Given the description of an element on the screen output the (x, y) to click on. 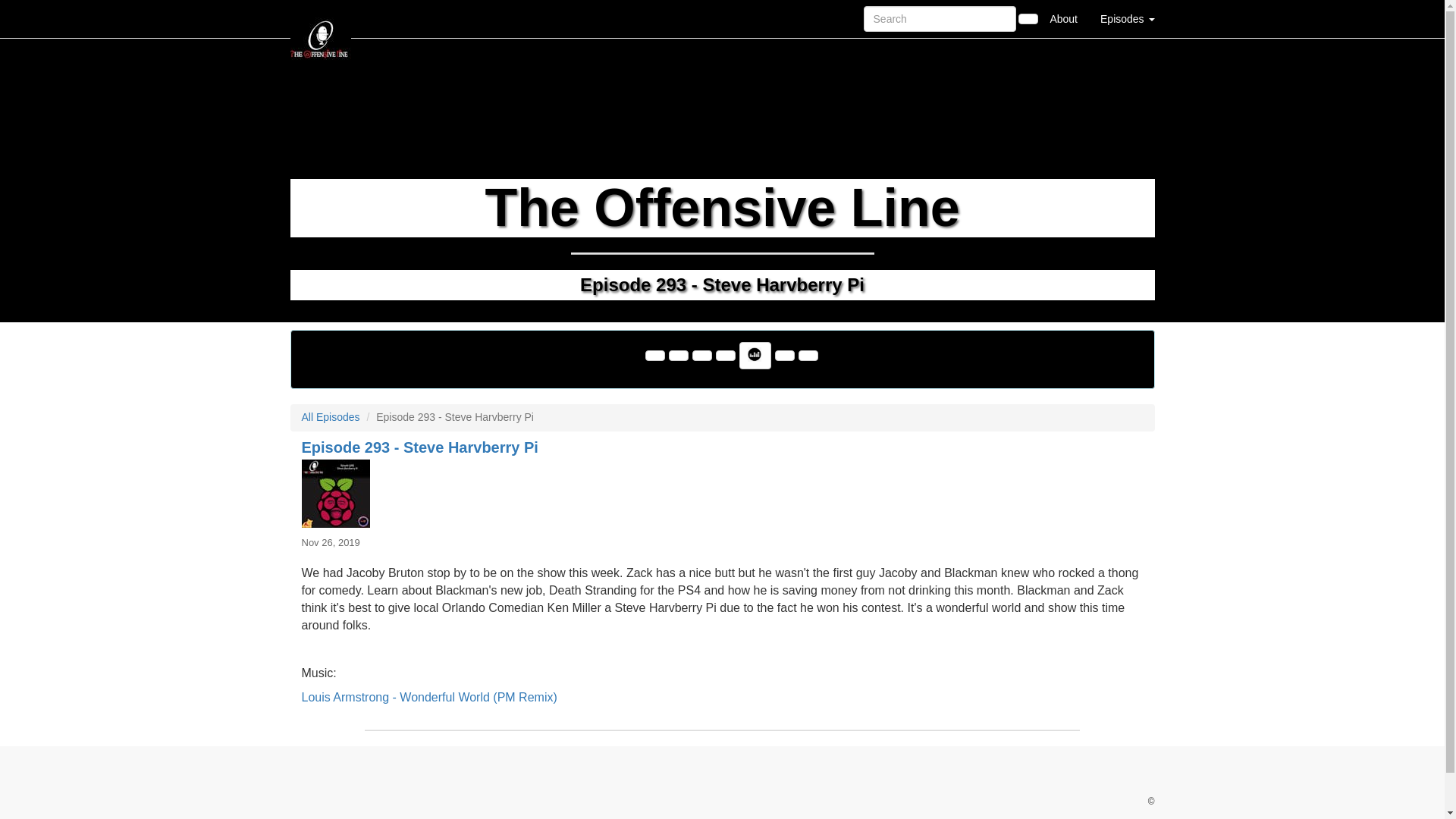
Episodes (1127, 18)
About (1063, 18)
Home Page (320, 18)
Episode 293 - Steve Harvberry Pi (721, 493)
